Given the description of an element on the screen output the (x, y) to click on. 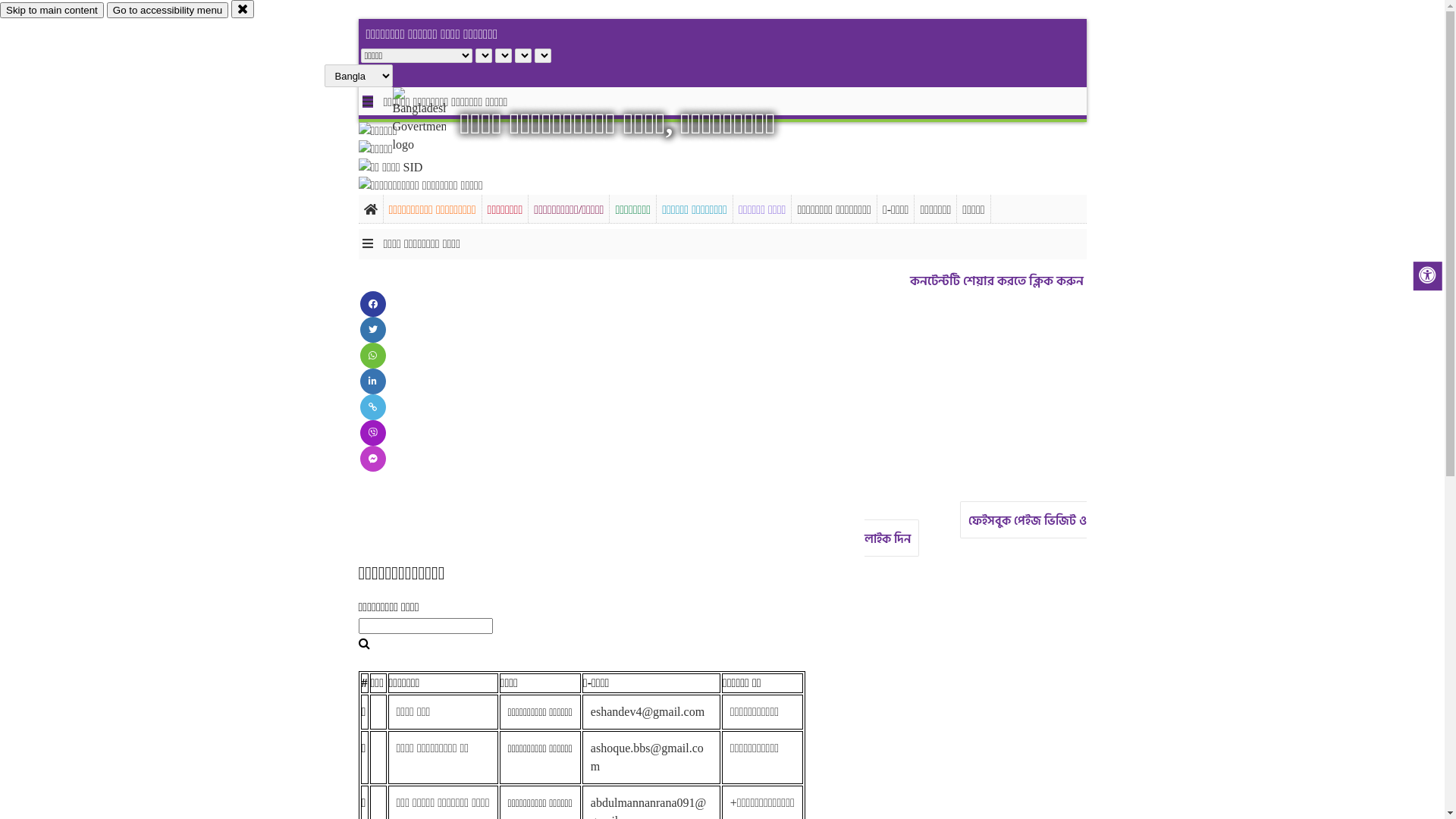
close Element type: hover (242, 9)
Go to accessibility menu Element type: text (167, 10)
ashoque.bbs@gmail.com Element type: text (646, 756)
Skip to main content Element type: text (51, 10)

                
             Element type: hover (431, 120)
eshandev4@gmail.com Element type: text (647, 711)
